Given the description of an element on the screen output the (x, y) to click on. 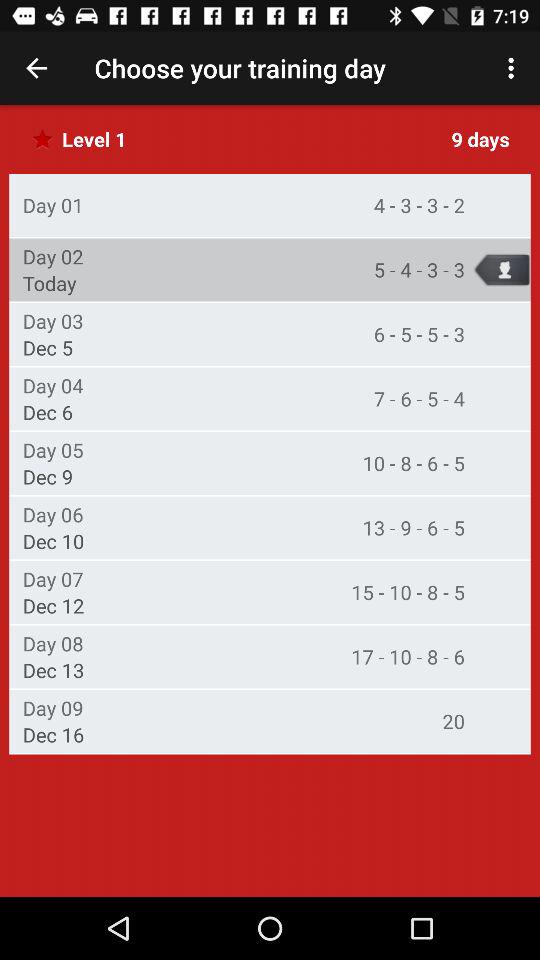
select item above the day 03 icon (49, 283)
